Given the description of an element on the screen output the (x, y) to click on. 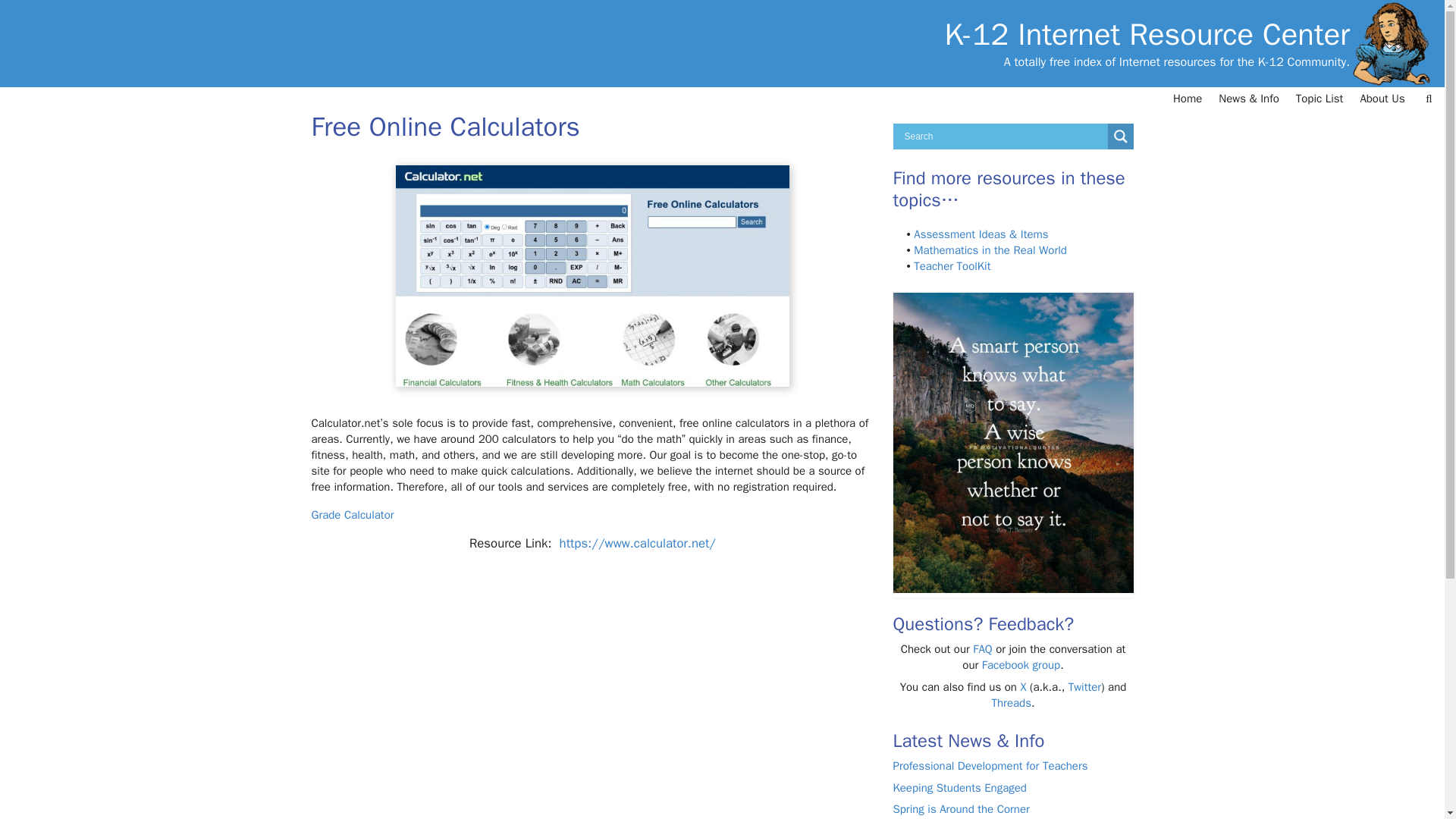
Topic List (1319, 98)
X (1023, 686)
Home (1186, 98)
Grade Calculator (352, 514)
K-12 Internet Resource Center (1146, 34)
Facebook group (1020, 664)
Threads (1010, 703)
Spring is Around the Corner (961, 808)
Twitter (1084, 686)
Teacher ToolKit (952, 265)
Keeping Students Engaged (959, 787)
Professional Development for Teachers (990, 766)
FAQ (981, 649)
About Us (1381, 98)
Mathematics in the Real World (990, 250)
